Given the description of an element on the screen output the (x, y) to click on. 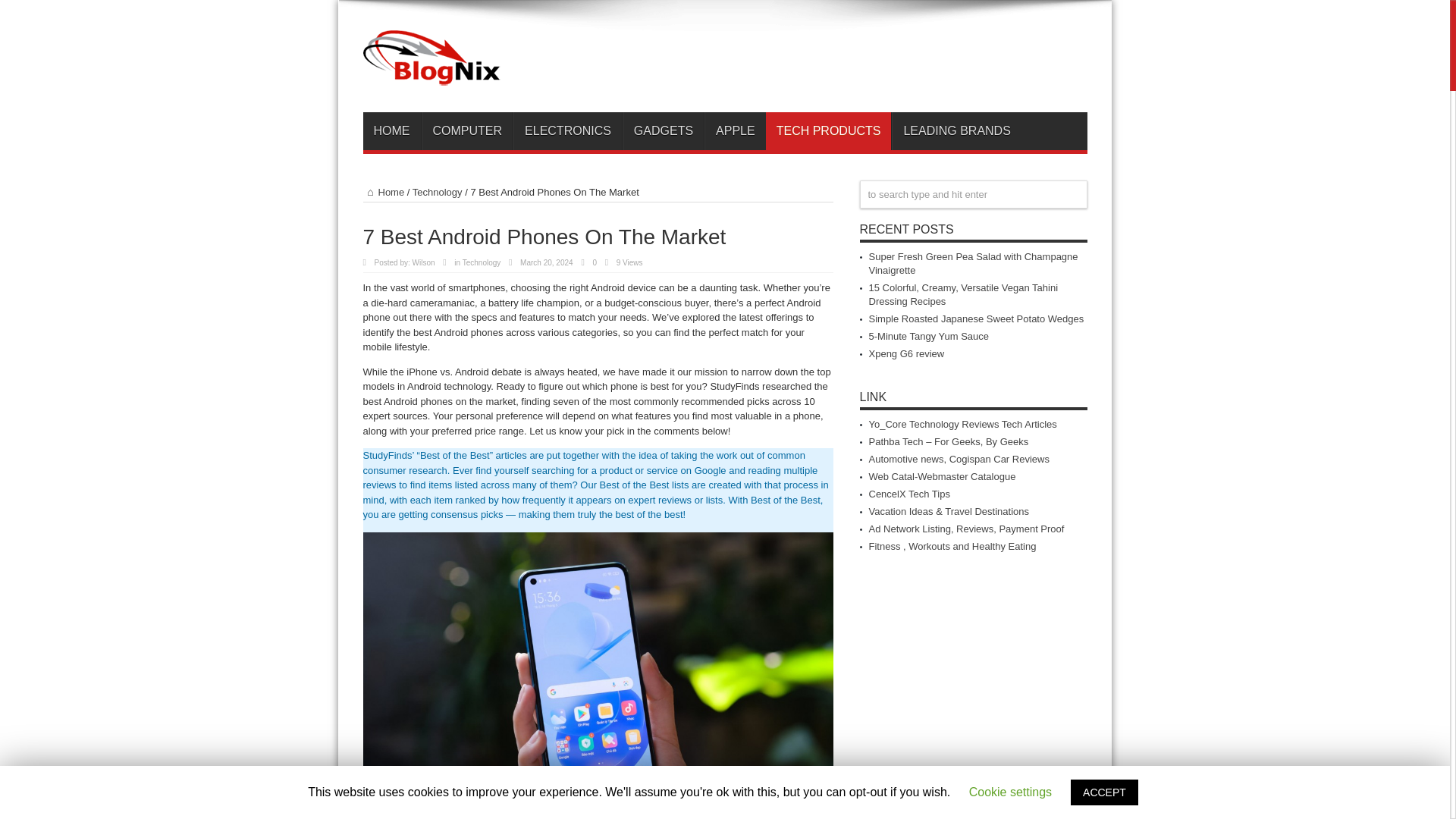
Simple Roasted Japanese Sweet Potato Wedges (976, 318)
0 (594, 262)
ELECTRONICS (567, 130)
COMPUTER (467, 130)
HOME (391, 130)
Technology (437, 192)
TECH PRODUCTS (828, 130)
Wilson (423, 262)
Super Fresh Green Pea Salad with Champagne Vinaigrette (973, 263)
GADGETS (663, 130)
LEADING BRANDS (955, 130)
APPLE (734, 130)
15 Colorful, Creamy, Versatile Vegan Tahini Dressing Recipes (963, 294)
Technology (481, 262)
5-Minute Tangy Yum Sauce (929, 336)
